Given the description of an element on the screen output the (x, y) to click on. 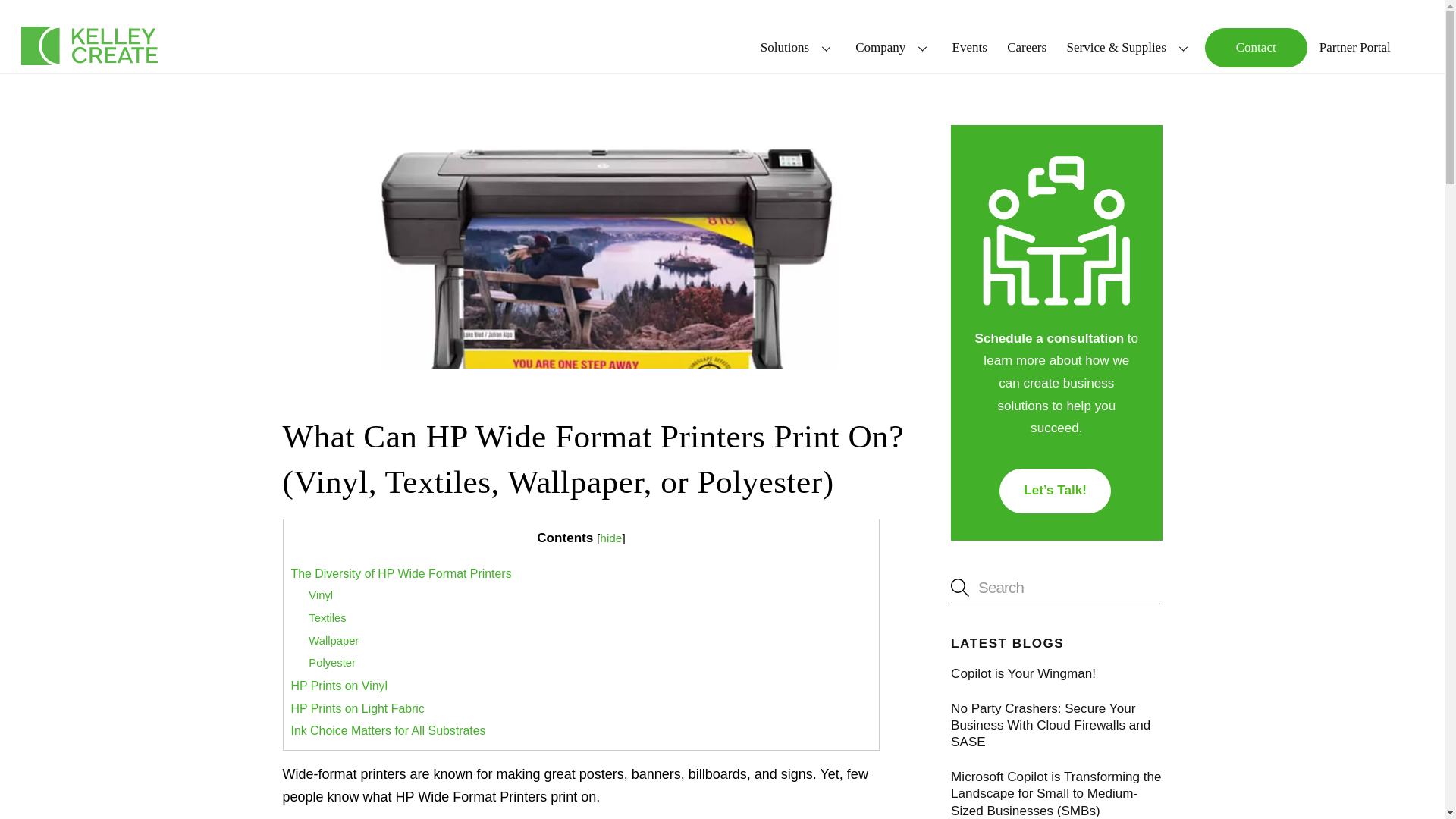
Free Consultation (1056, 234)
Kelley Create (89, 45)
Kelley Create (89, 45)
Search (1055, 587)
Solutions (797, 47)
